Given the description of an element on the screen output the (x, y) to click on. 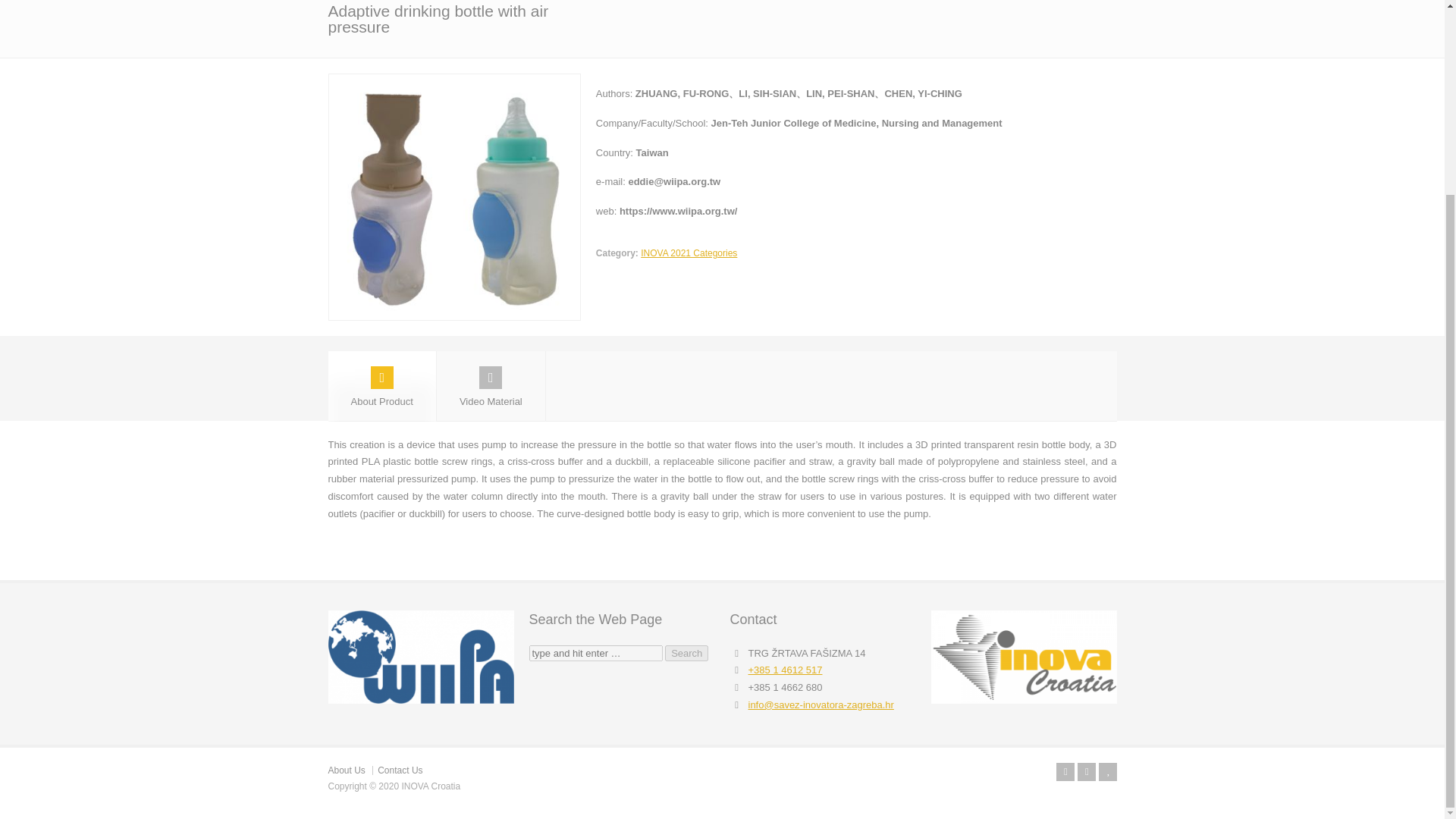
Instagram (1085, 771)
About Us (346, 769)
Search (686, 652)
Search (686, 652)
About Product (381, 386)
YouTube (1106, 771)
Search (686, 652)
Facebook (1064, 771)
Contact Us (399, 769)
Video Material (490, 386)
INOVA 2021 Categories (688, 253)
